Given the description of an element on the screen output the (x, y) to click on. 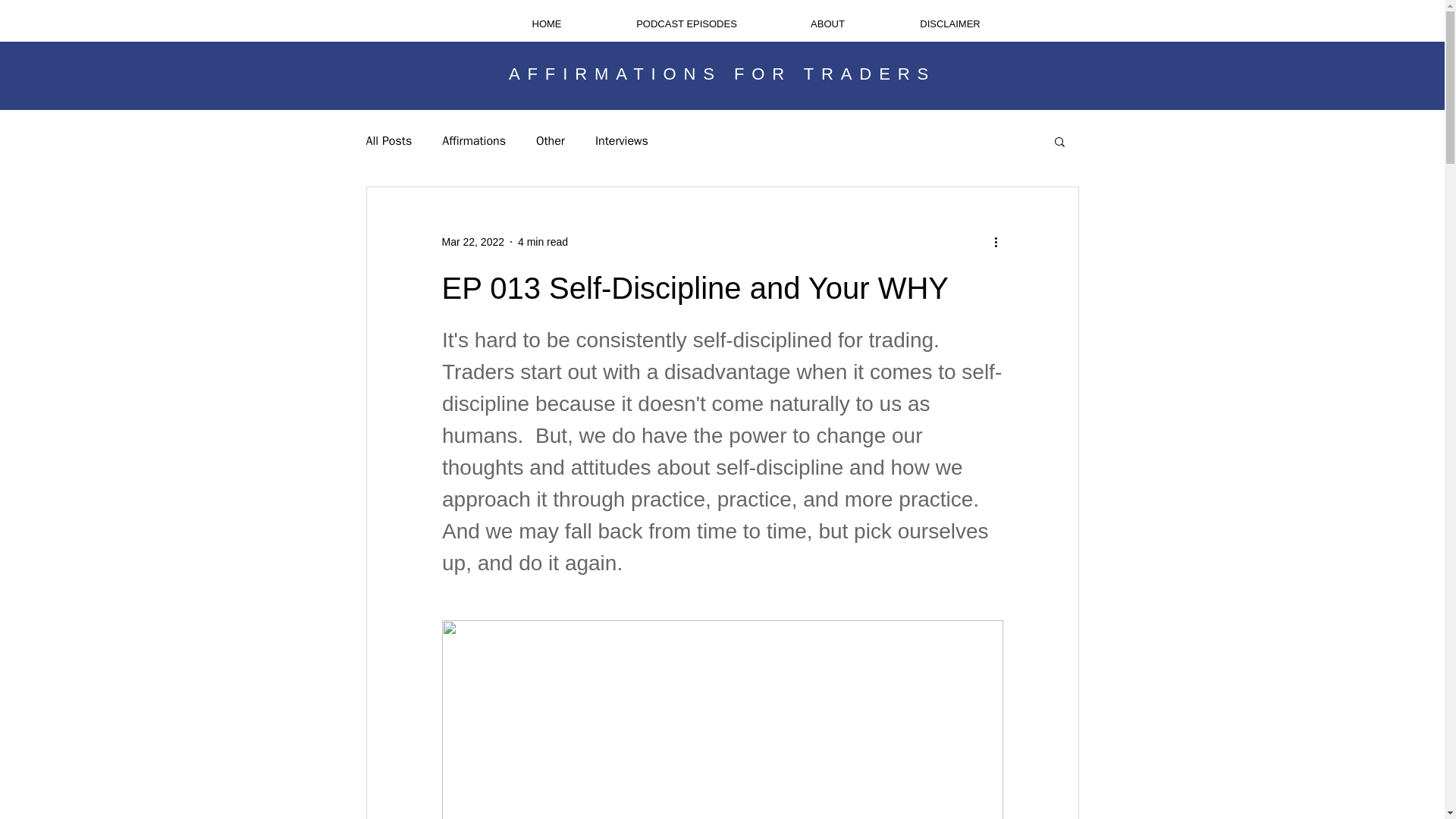
Other (549, 141)
Interviews (621, 141)
AFFIRMATIONS FOR TRADERS (722, 73)
All Posts (388, 141)
ABOUT (827, 23)
Affirmations (473, 141)
PODCAST EPISODES (685, 23)
DISCLAIMER (949, 23)
HOME (547, 23)
4 min read (542, 241)
Mar 22, 2022 (472, 241)
